Given the description of an element on the screen output the (x, y) to click on. 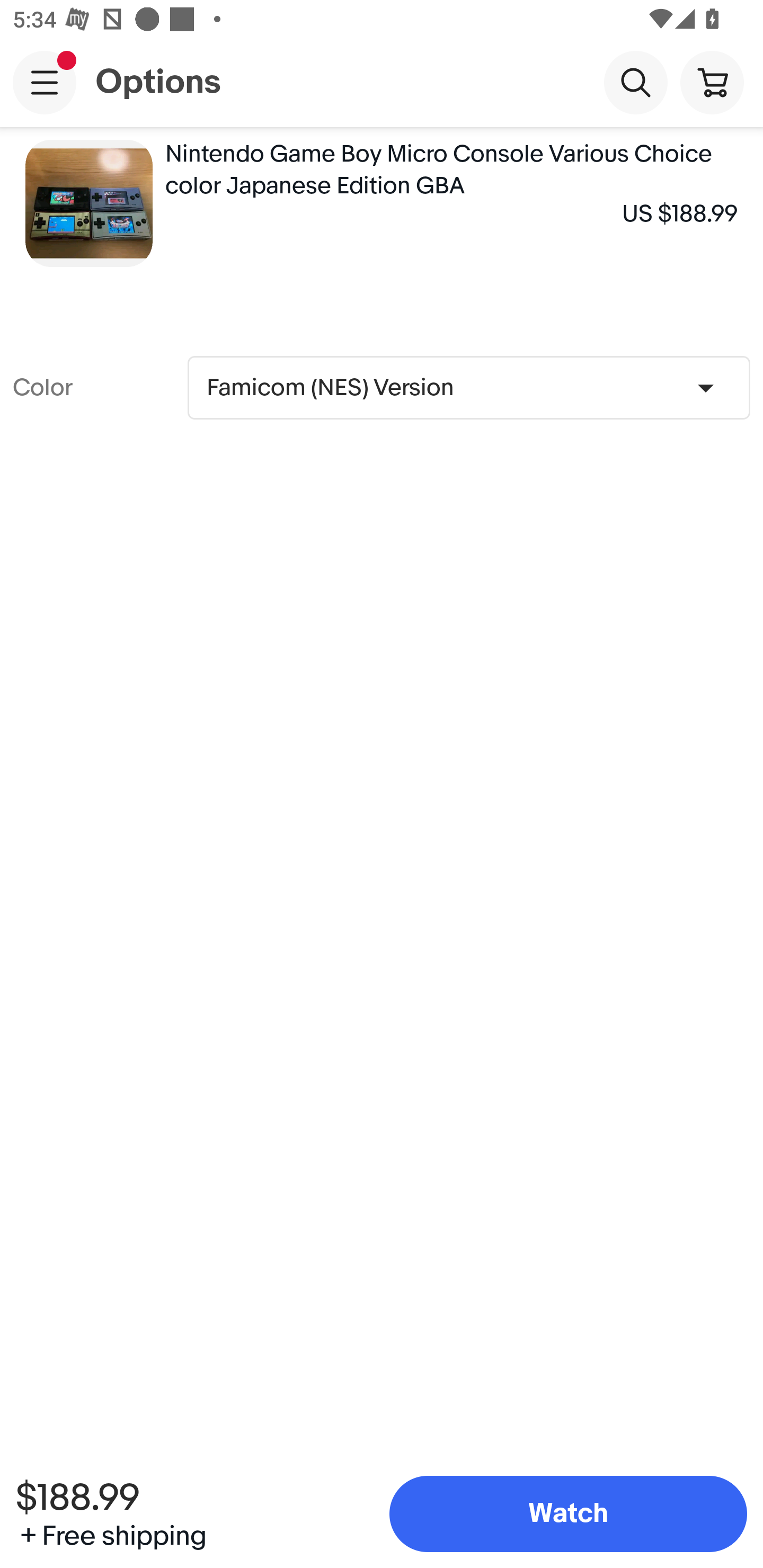
Main navigation, notification is pending, open (44, 82)
Search (635, 81)
Cart button shopping cart (711, 81)
Color,Famicom (NES) Version Famicom (NES) Version (468, 387)
Watch (567, 1513)
